Given the description of an element on the screen output the (x, y) to click on. 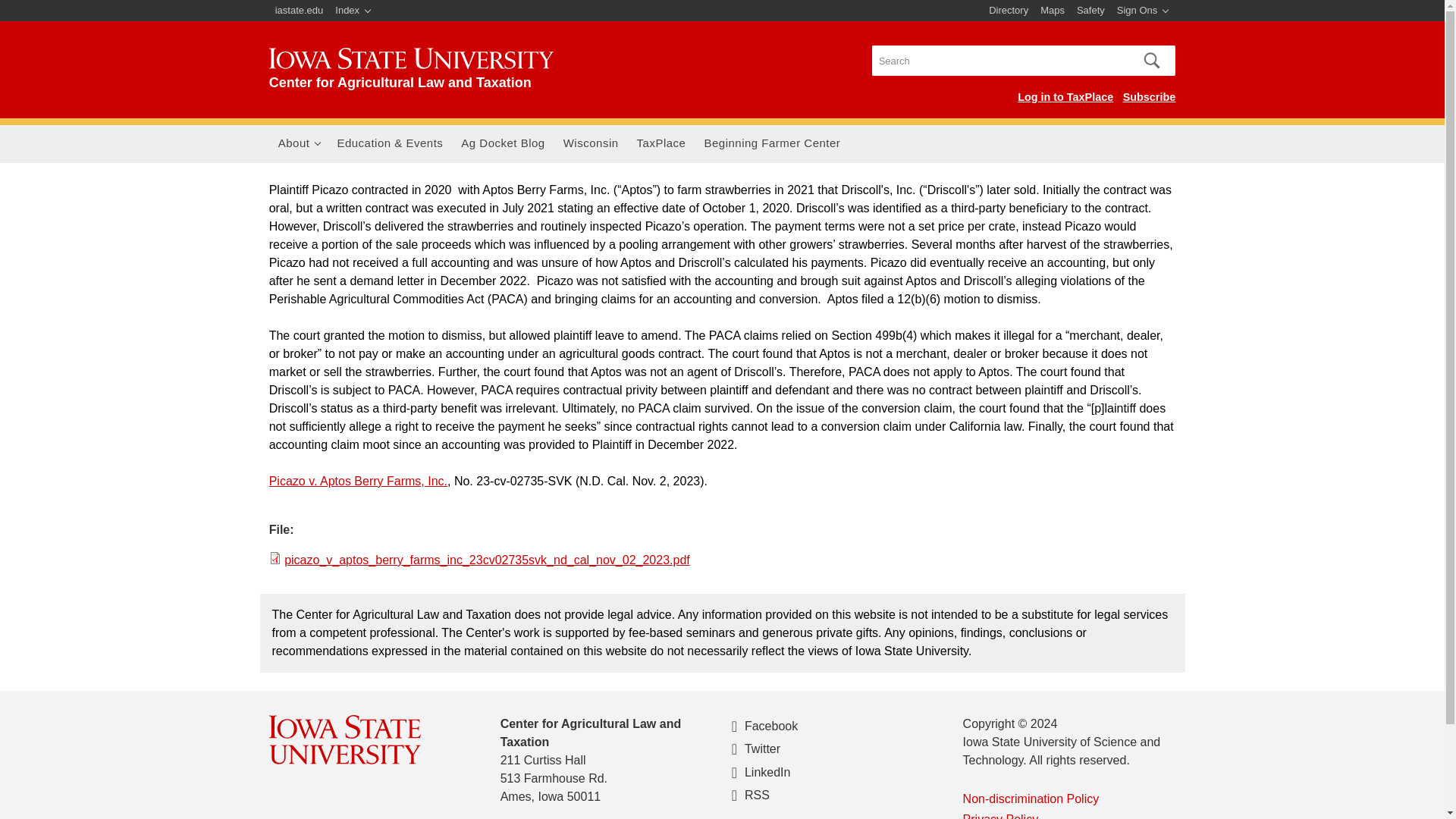
Sign Ons (1142, 10)
Index (353, 10)
Directory (1007, 10)
Skip to main content (685, 1)
Maps (1051, 10)
Iowa State University Home Page (299, 10)
Center for Agricultural Law and Taxation (299, 143)
iastate.edu (299, 10)
Safety (1090, 10)
Enter the terms you wish to search for. (998, 60)
